Given the description of an element on the screen output the (x, y) to click on. 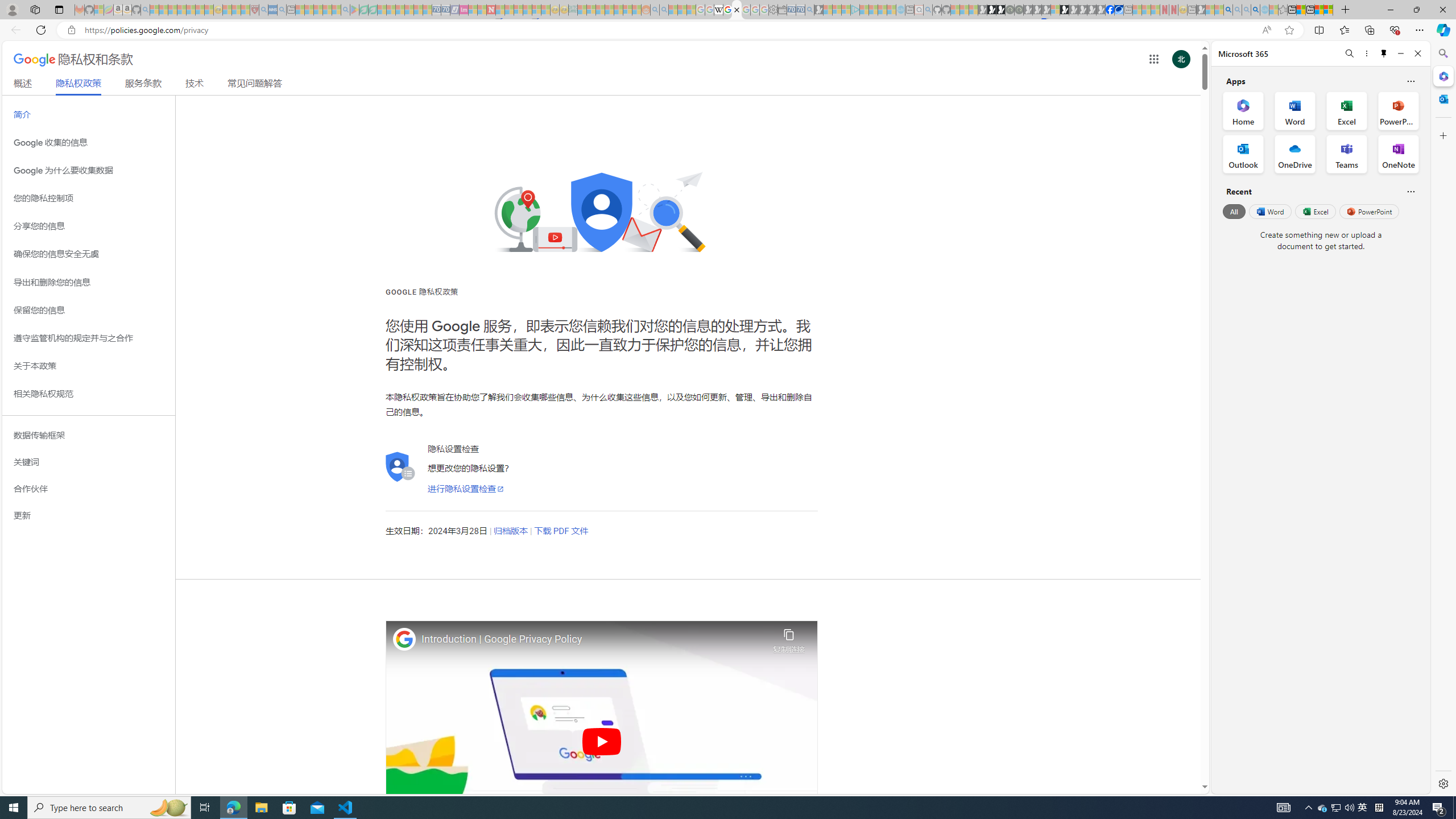
Favorites - Sleeping (1283, 9)
All (1233, 210)
